Given the description of an element on the screen output the (x, y) to click on. 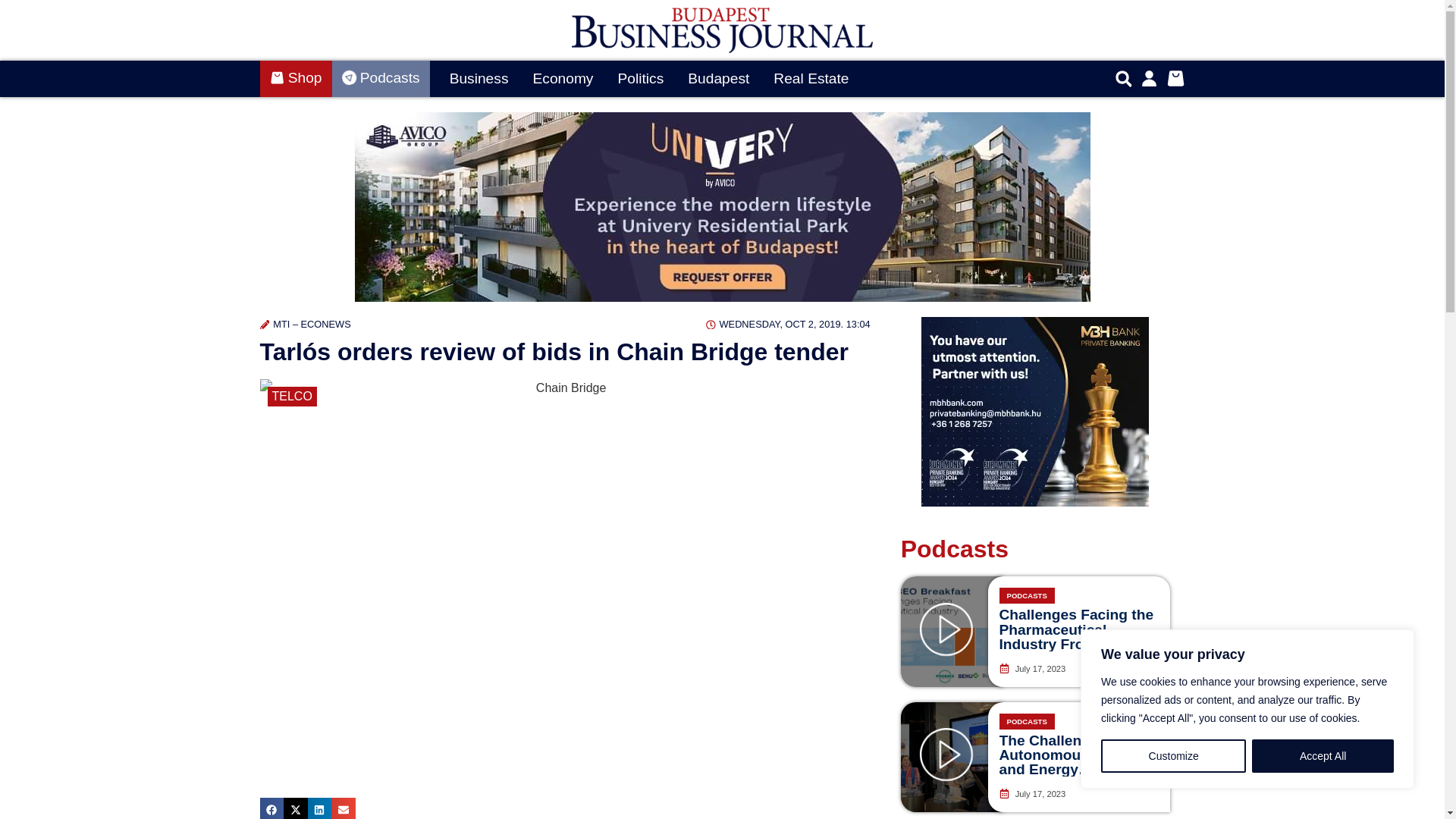
Economy (562, 78)
Budapest (718, 78)
Business (478, 78)
Politics (640, 78)
Podcasts (380, 78)
Customize (1173, 756)
Accept All (1322, 756)
Shop (295, 78)
WEDNESDAY, OCT 2, 2019. 13:04 (788, 323)
TELCO (290, 396)
Real Estate (810, 78)
